Given the description of an element on the screen output the (x, y) to click on. 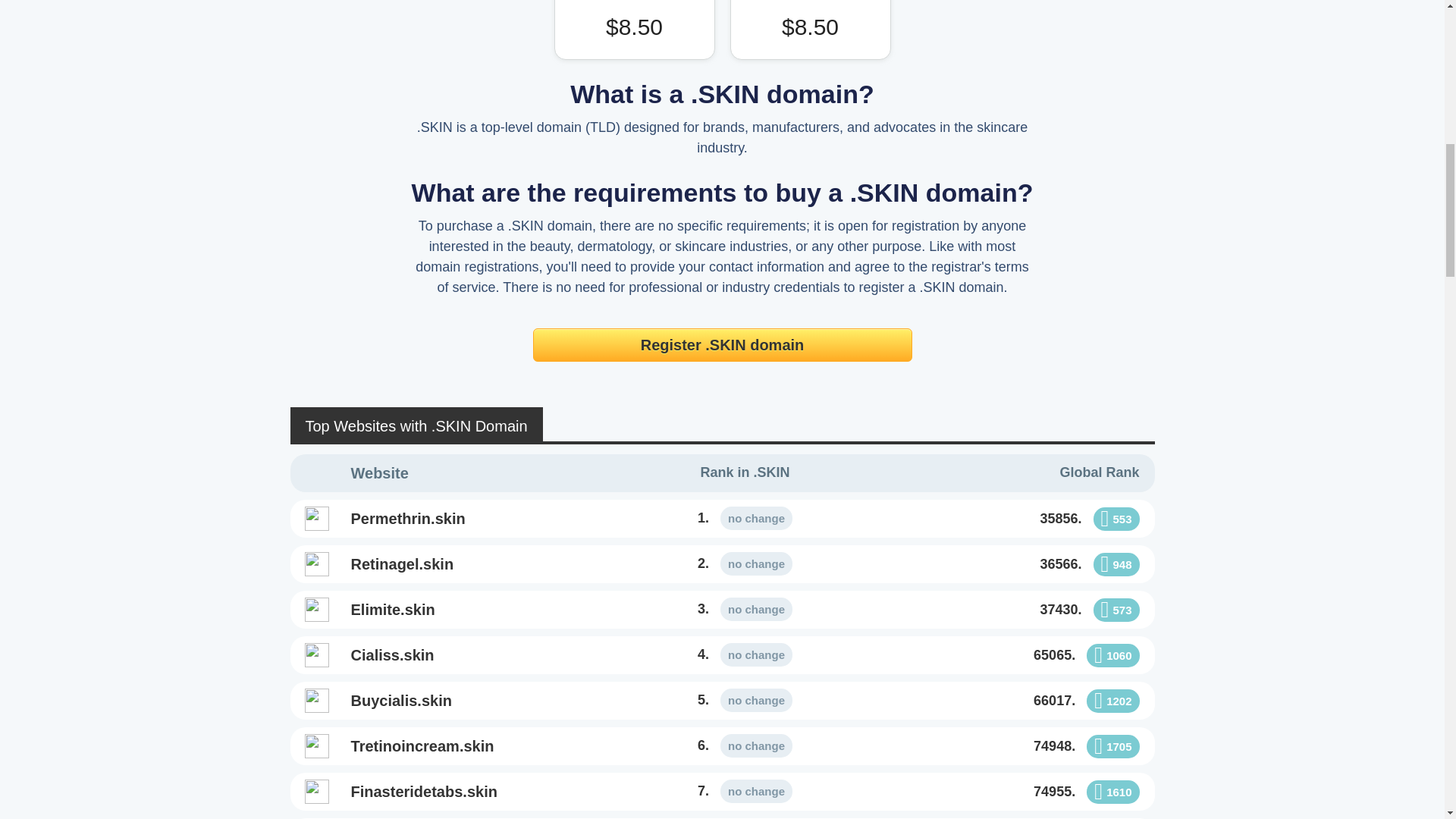
retinagel.skin ranks number 36566. Globally (1008, 563)
Maintained position (756, 517)
Dropped 948 positions (1116, 564)
permethrin.skin ranks number 1. in .SKIN domain (481, 517)
elimite.skin ranks number 3. in .SKIN domain (481, 609)
permethrin.skin ranks number 35856. Globally (1008, 517)
Register .SKIN domain (721, 344)
Dropped 553 positions (1116, 518)
retinagel.skin ranks number 2. in .SKIN domain (481, 563)
retinagel.skin ranks number 2. in .SKIN domain (744, 563)
permethrin.skin ranks number 1. in .SKIN domain (744, 517)
Maintained position (756, 563)
